Given the description of an element on the screen output the (x, y) to click on. 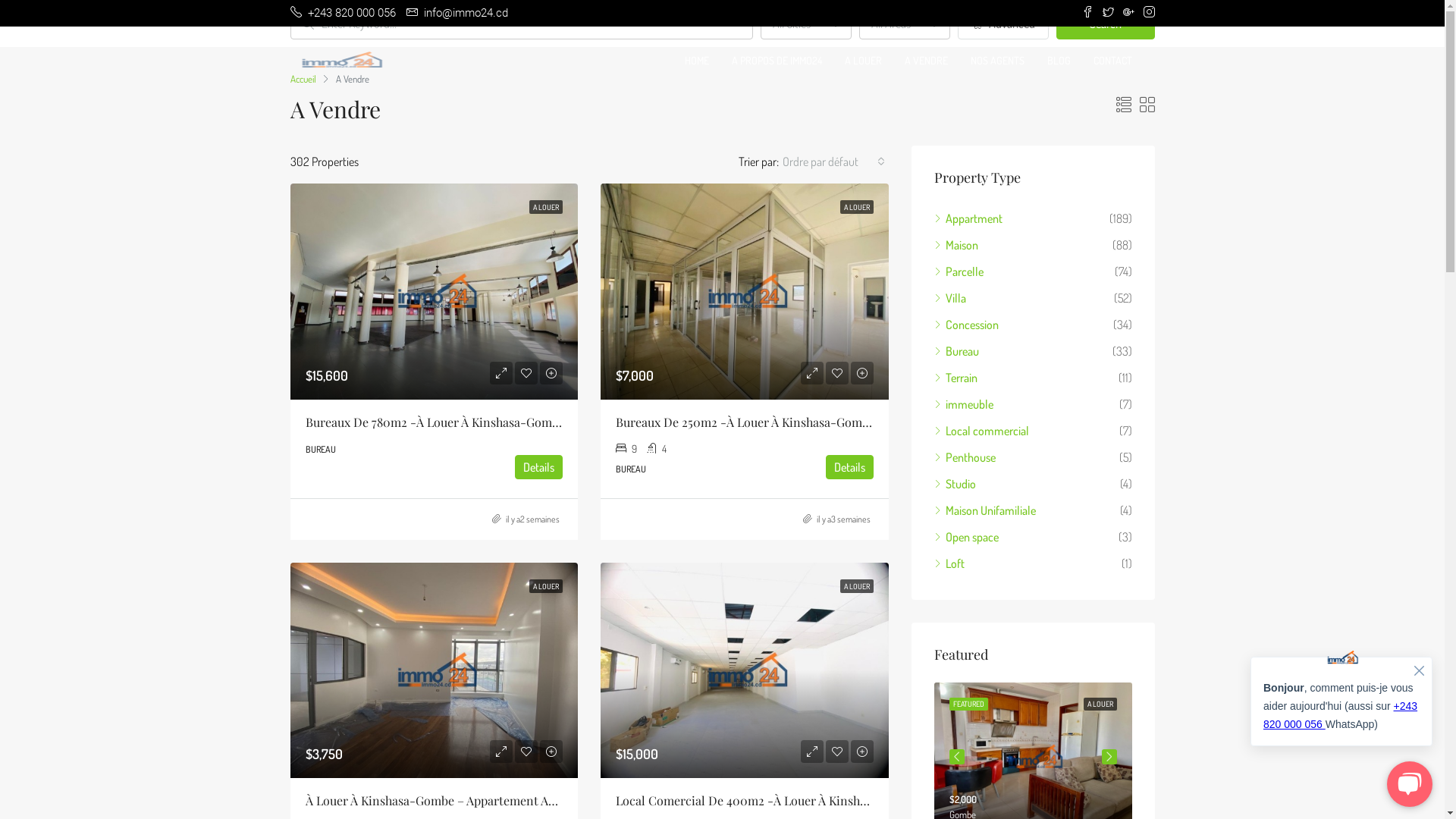
A LOUER Element type: text (1099, 703)
NOS AGENTS Element type: text (996, 60)
+243 820 000 056 Element type: text (342, 12)
Advanced Element type: text (1002, 23)
Local commercial Element type: text (981, 430)
All Cities Element type: text (804, 23)
Details Element type: text (848, 467)
CONTACT Element type: text (1111, 60)
A PROPOS DE IMMO24 Element type: text (776, 60)
A LOUER Element type: text (862, 60)
Appartment Element type: text (968, 217)
A VENDRE Element type: text (926, 60)
Details Element type: text (538, 467)
Next Element type: text (1108, 756)
Bureau Element type: text (956, 350)
A LOUER Element type: text (545, 586)
A LOUER Element type: text (856, 206)
Concession Element type: text (966, 324)
Villa Element type: text (950, 297)
Open space Element type: text (966, 536)
A LOUER Element type: text (856, 586)
Parcelle Element type: text (958, 271)
Accueil Element type: text (302, 78)
Maison Unifamiliale Element type: text (984, 509)
All Areas Element type: text (903, 23)
Maison Element type: text (956, 244)
immeuble Element type: text (963, 403)
Previous Element type: text (956, 756)
Loft Element type: text (949, 563)
BLOG Element type: text (1058, 60)
Search Element type: text (1104, 23)
Penthouse Element type: text (964, 456)
Terrain Element type: text (955, 377)
A LOUER Element type: text (545, 206)
HOME Element type: text (696, 60)
info@immo24.cd Element type: text (457, 12)
Studio Element type: text (954, 483)
